Given the description of an element on the screen output the (x, y) to click on. 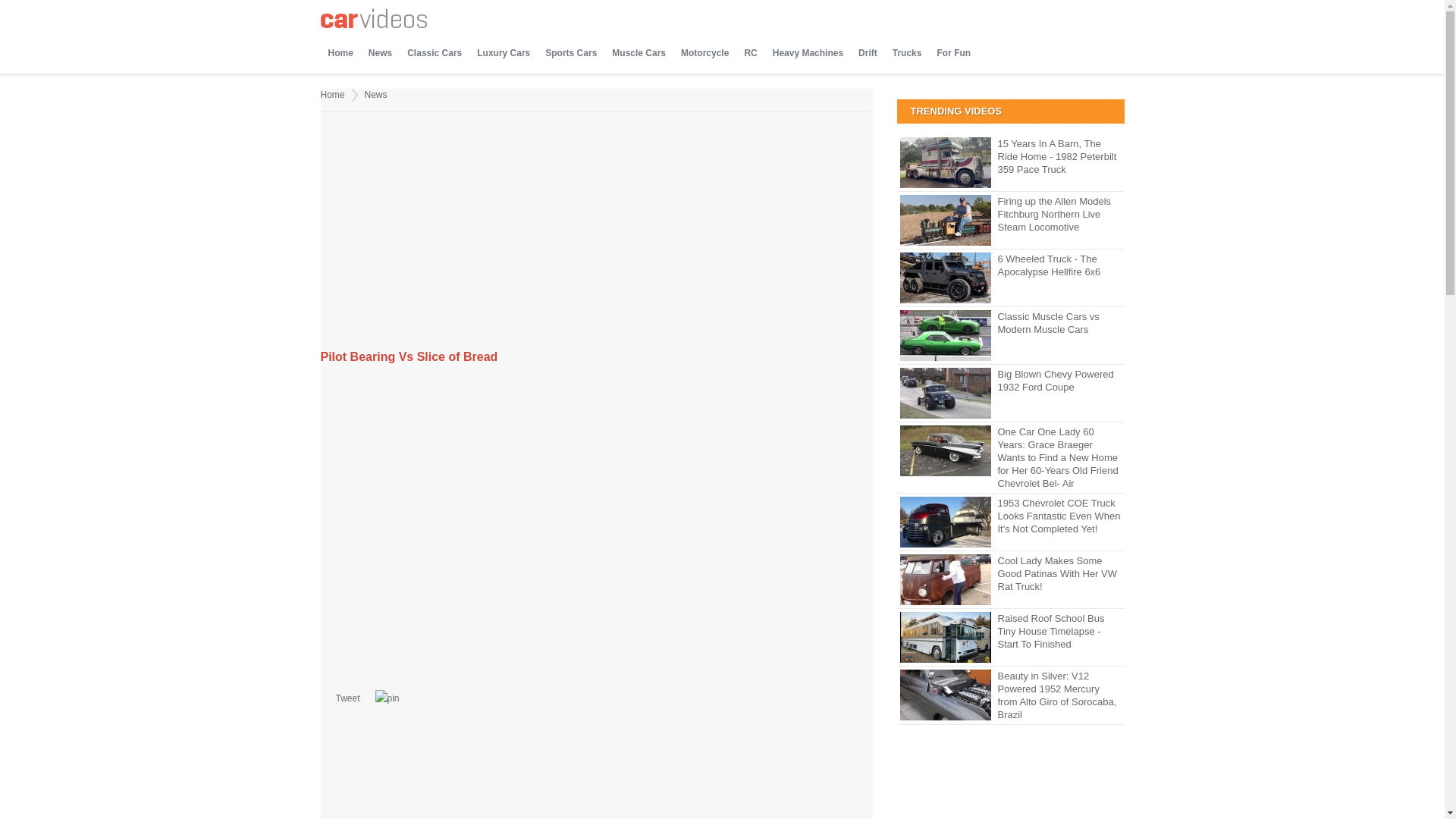
Tweet (347, 697)
RC (750, 53)
News (376, 94)
Classic Muscle Cars vs Modern Muscle Cars (1010, 322)
News (379, 53)
Home (331, 94)
Home (339, 53)
Motorcycle (704, 53)
Cool Lady Makes Some Good Patinas With Her VW Rat Truck! (1010, 573)
